Given the description of an element on the screen output the (x, y) to click on. 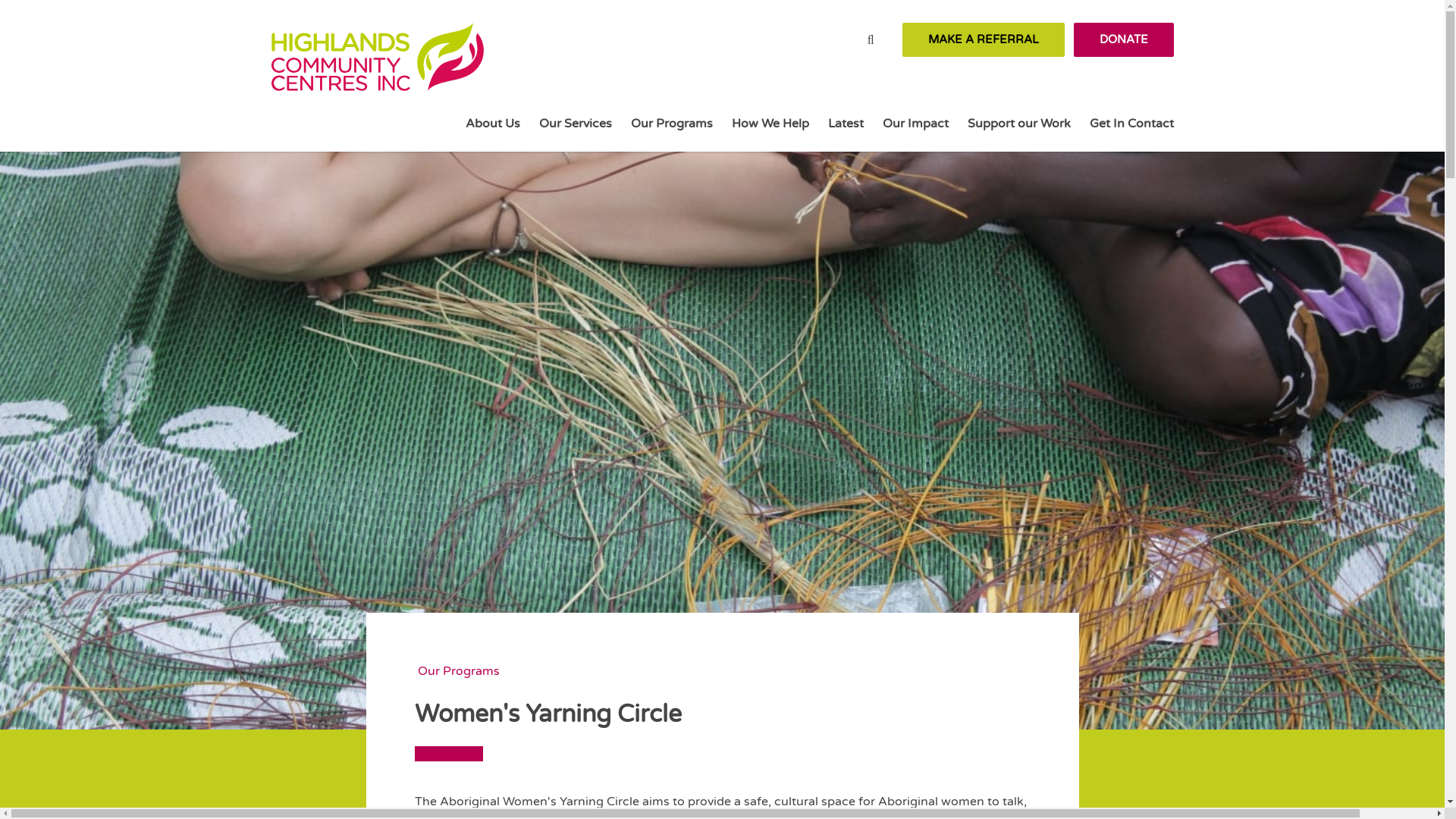
How We Help Element type: text (769, 123)
Support our Work Element type: text (1018, 123)
Our Impact Element type: text (914, 123)
Search Element type: text (870, 39)
Latest Element type: text (845, 123)
Our Services Element type: text (575, 123)
About Us Element type: text (492, 123)
Our Programs Element type: text (457, 670)
Our Programs Element type: text (671, 123)
DONATE Element type: text (1123, 39)
Highlands Community Centres Incorporated Element type: text (377, 75)
Get In Contact Element type: text (1131, 123)
MAKE A REFERRAL Element type: text (983, 39)
